Given the description of an element on the screen output the (x, y) to click on. 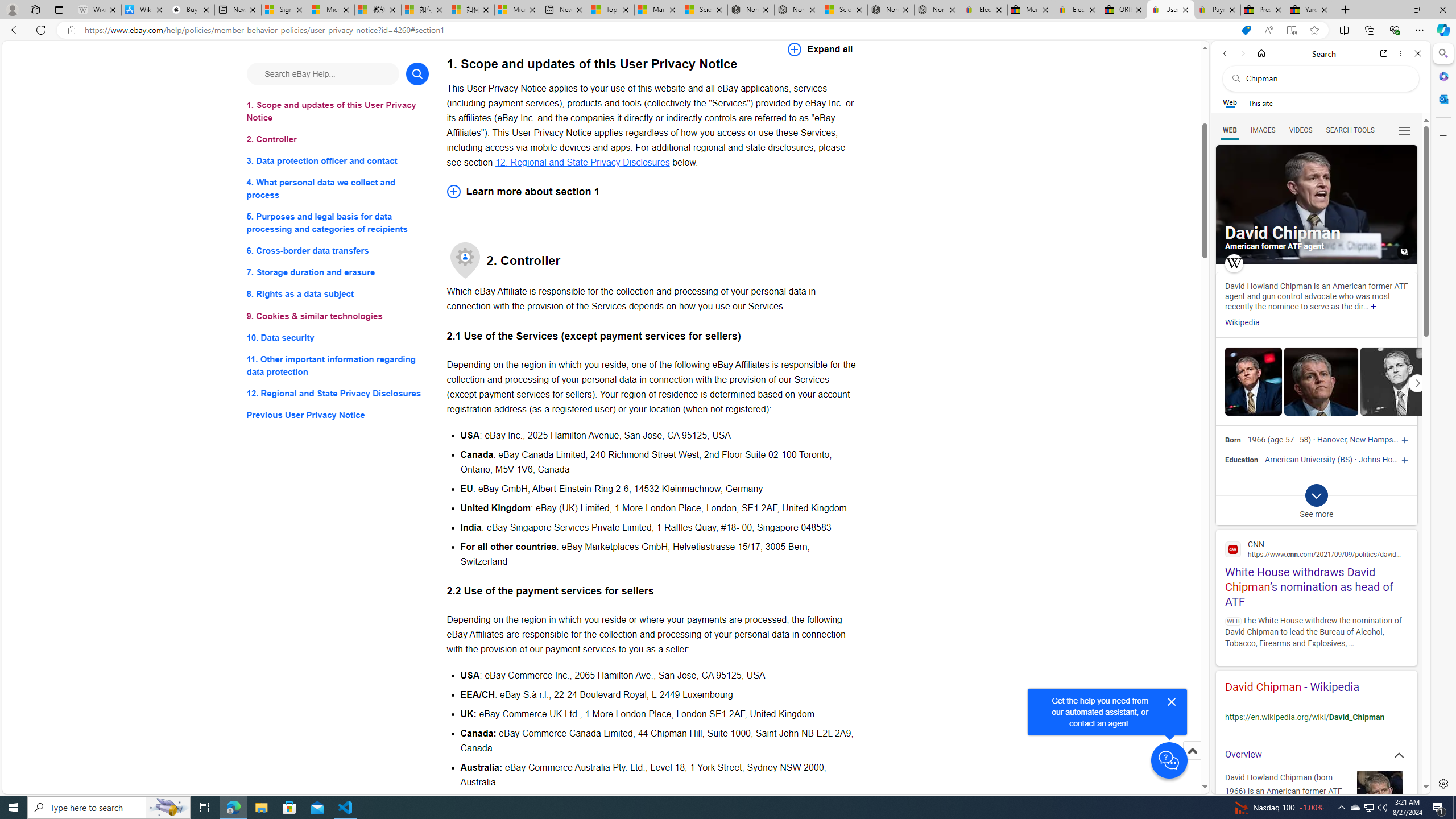
Search eBay Help... (322, 73)
Scroll to top (1191, 762)
Sign in to your Microsoft account (284, 9)
Payments Terms of Use | eBay.com (1216, 9)
4. What personal data we collect and process (337, 189)
This site scope (1259, 102)
New Hampshire (1377, 439)
